Given the description of an element on the screen output the (x, y) to click on. 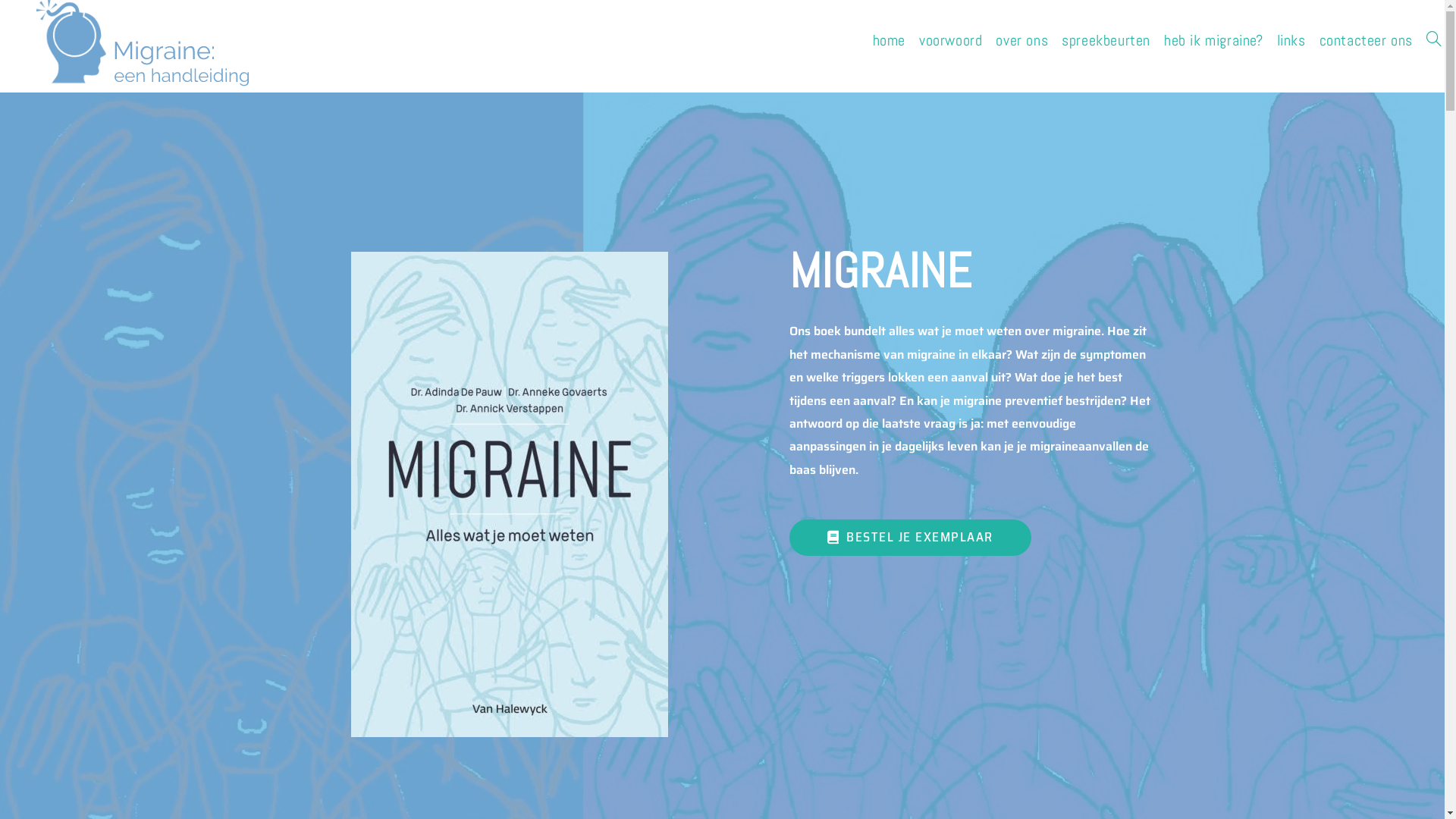
contacteer ons Element type: text (1365, 40)
heb ik migraine? Element type: text (1213, 40)
BESTEL JE EXEMPLAAR Element type: text (909, 537)
spreekbeurten Element type: text (1105, 40)
voorwoord Element type: text (950, 40)
links Element type: text (1291, 40)
home Element type: text (889, 40)
over ons Element type: text (1021, 40)
